Given the description of an element on the screen output the (x, y) to click on. 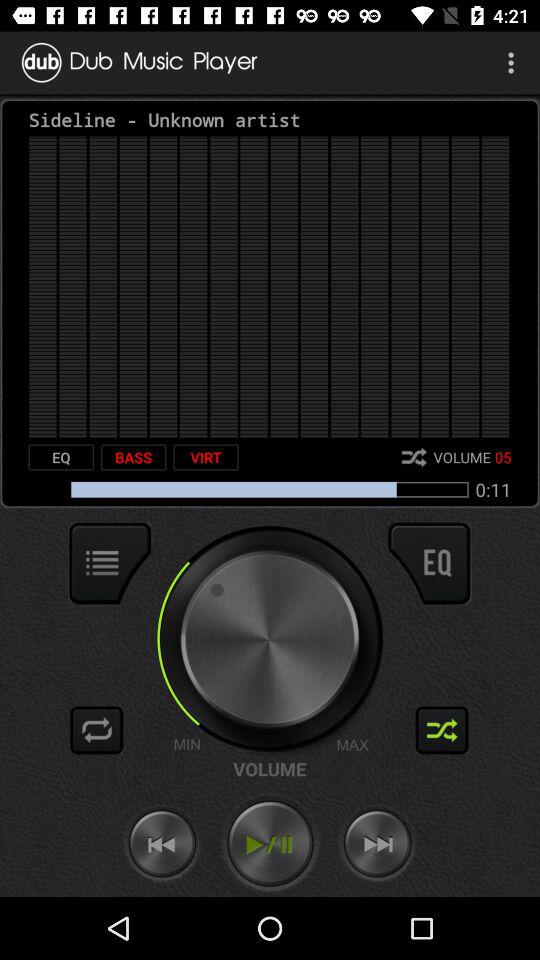
swipe to the  virt  item (205, 457)
